Given the description of an element on the screen output the (x, y) to click on. 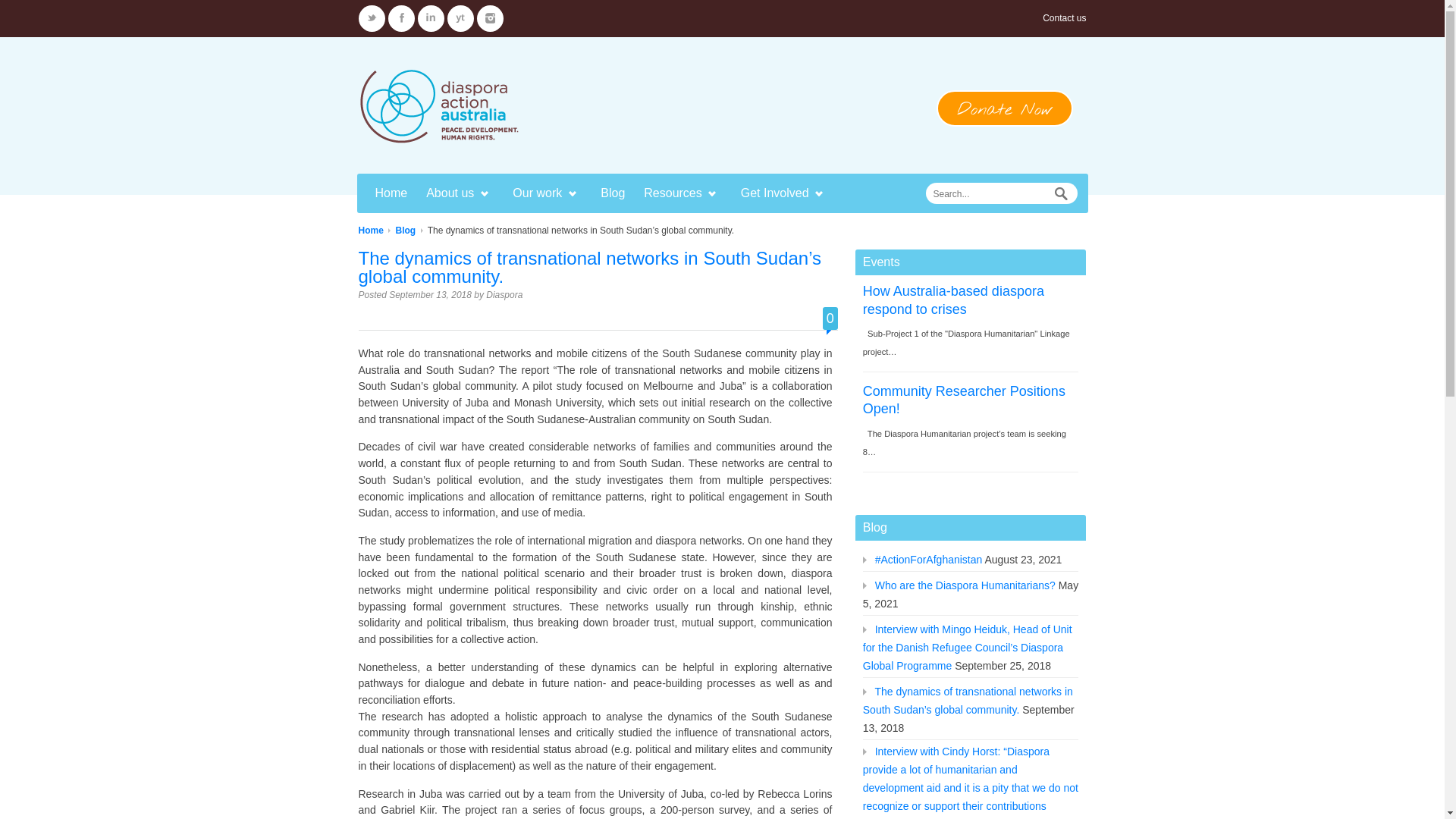
Community Researcher Positions Open! Element type: text (963, 400)
Contact us Element type: text (1063, 17)
#ActionForAfghanistan Element type: text (928, 559)
Donate Now Element type: text (1003, 108)
Who are the Diaspora Humanitarians? Element type: text (965, 585)
How Australia-based diaspora respond to crises Element type: text (953, 299)
Home Element type: text (369, 230)
Blog Element type: text (405, 230)
Home Element type: text (390, 192)
0 Element type: text (830, 318)
Blog Element type: text (612, 192)
